Given the description of an element on the screen output the (x, y) to click on. 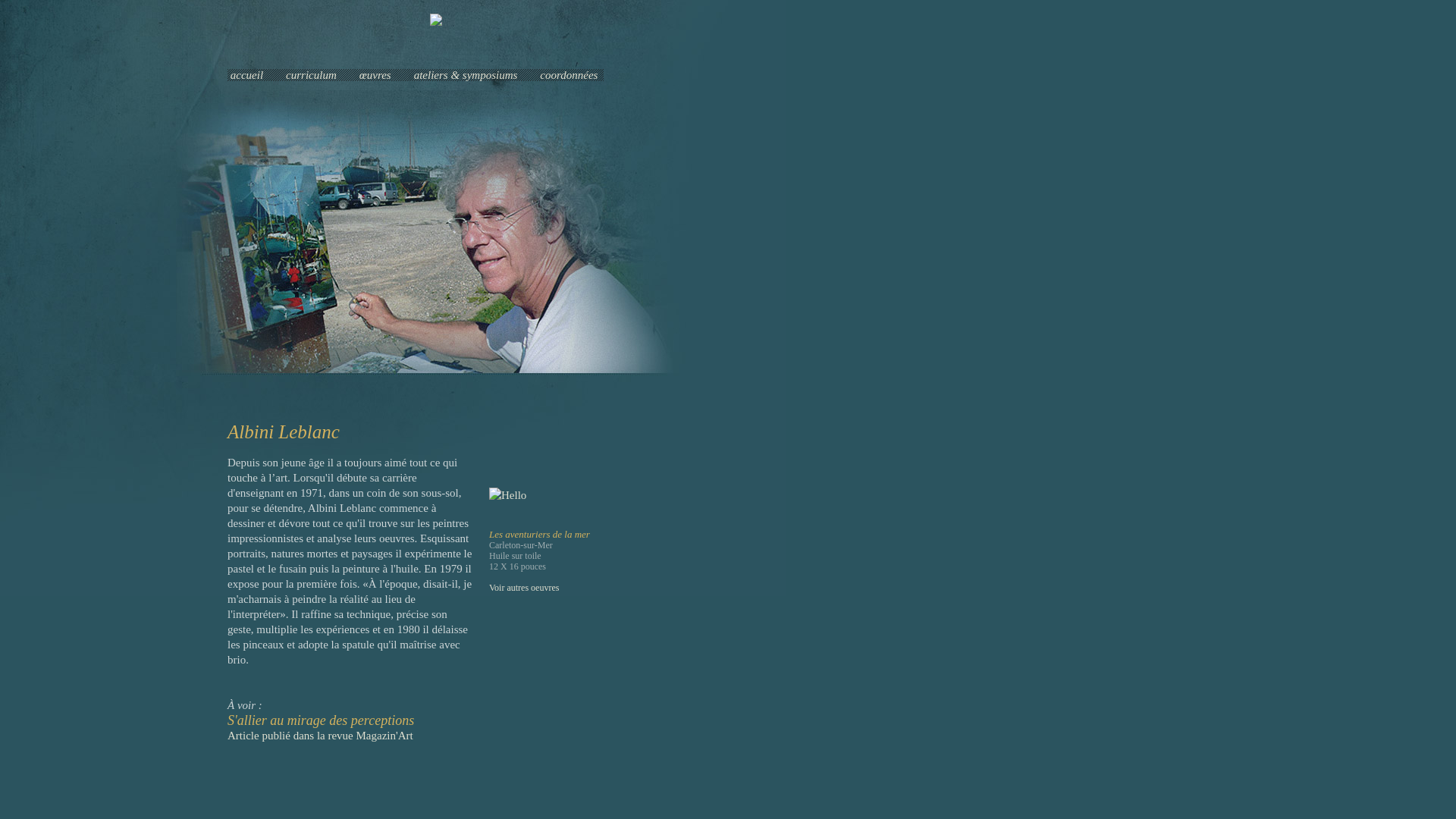
curriculum Element type: text (310, 75)
accueil Element type: text (246, 75)
ateliers & symposiums Element type: text (465, 75)
Voir autres oeuvres Element type: text (523, 587)
